Given the description of an element on the screen output the (x, y) to click on. 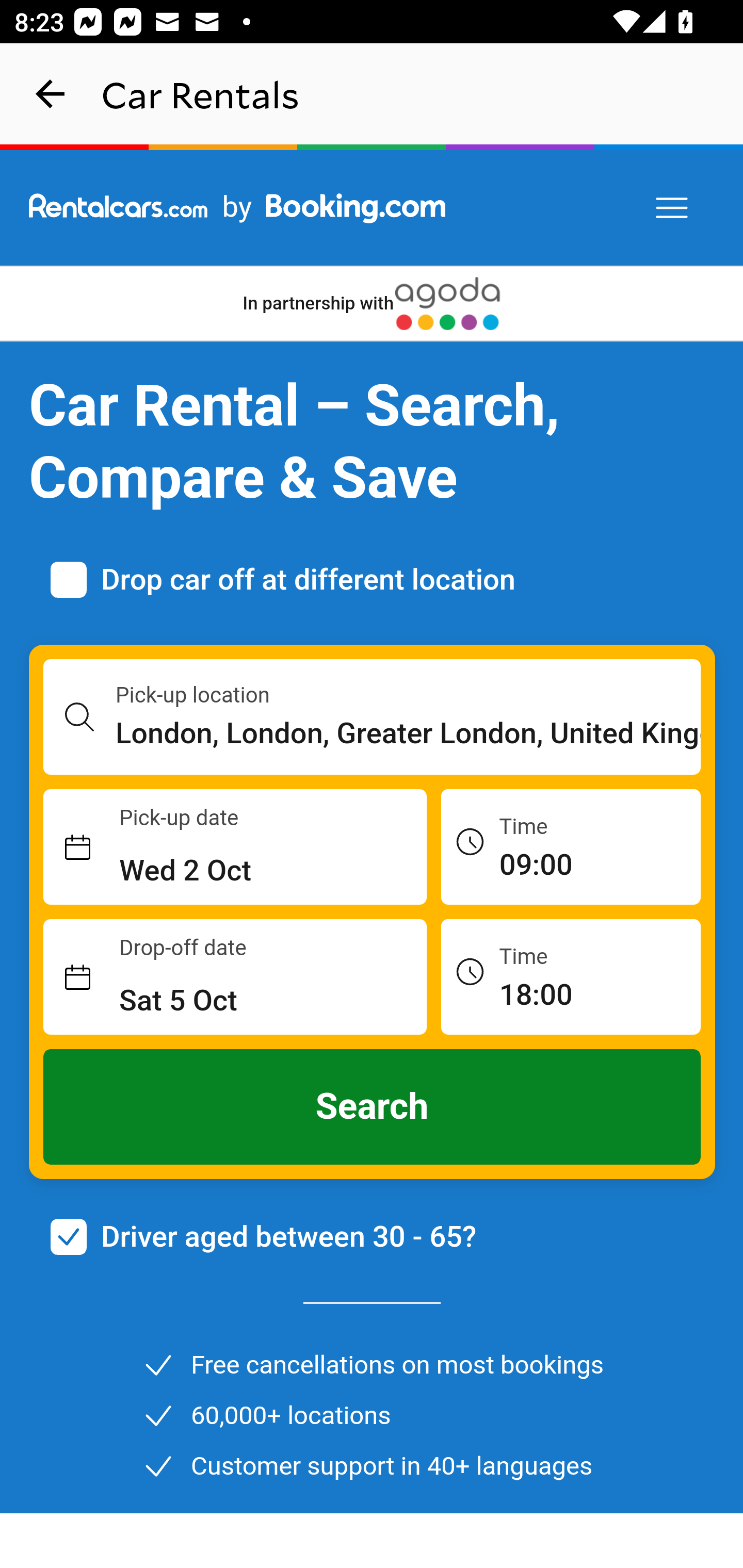
navigation_button (50, 93)
Menu (672, 208)
London, London, Greater London, United Kingdom (408, 733)
Pick-up date Wed 2 Oct (235, 847)
09:00 (571, 845)
Drop-off date Sat 5 Oct (235, 977)
18:00 (571, 975)
Search (372, 1106)
